Given the description of an element on the screen output the (x, y) to click on. 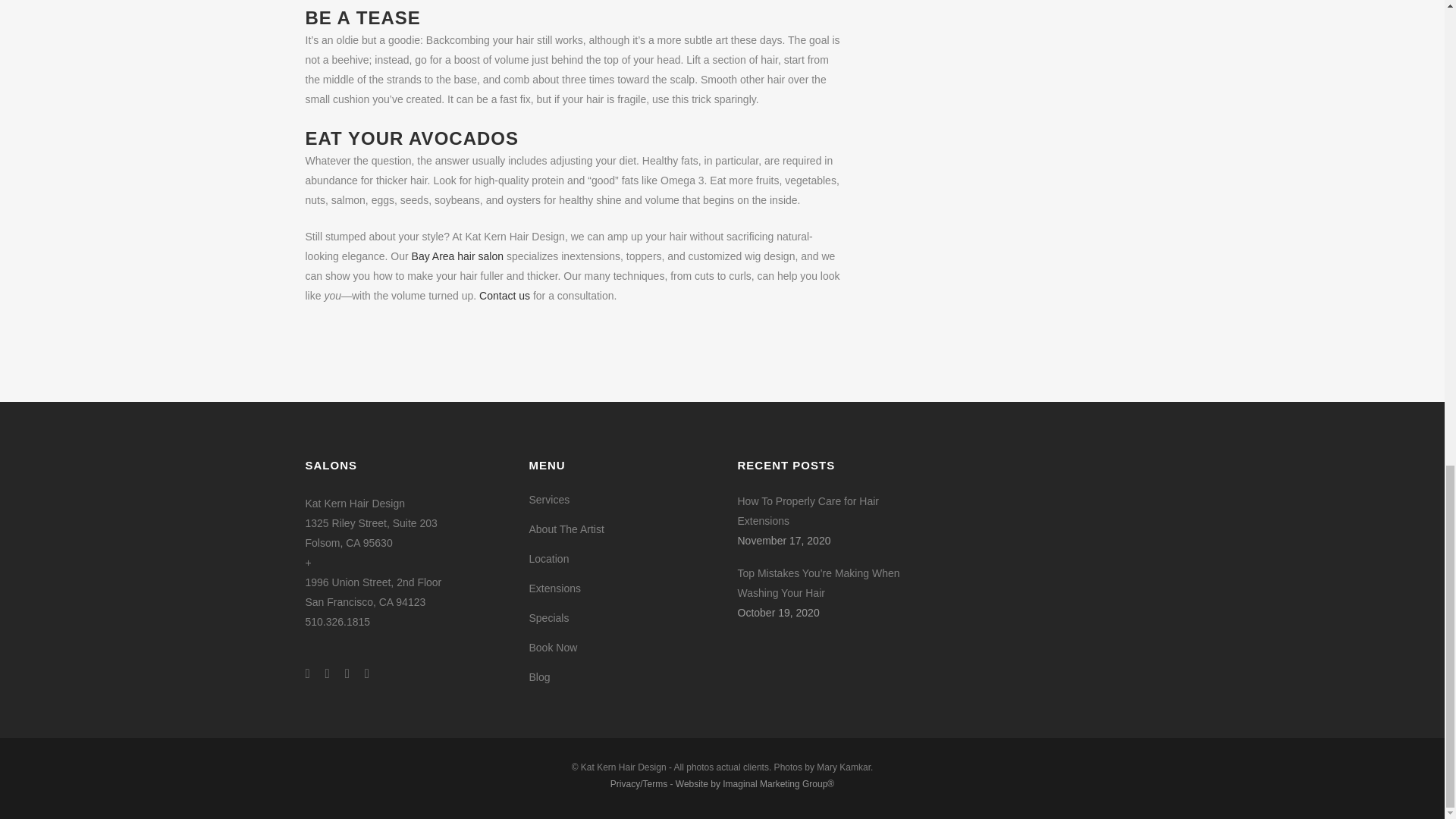
Bay Area hair salon (457, 256)
Contact us (504, 295)
